Given the description of an element on the screen output the (x, y) to click on. 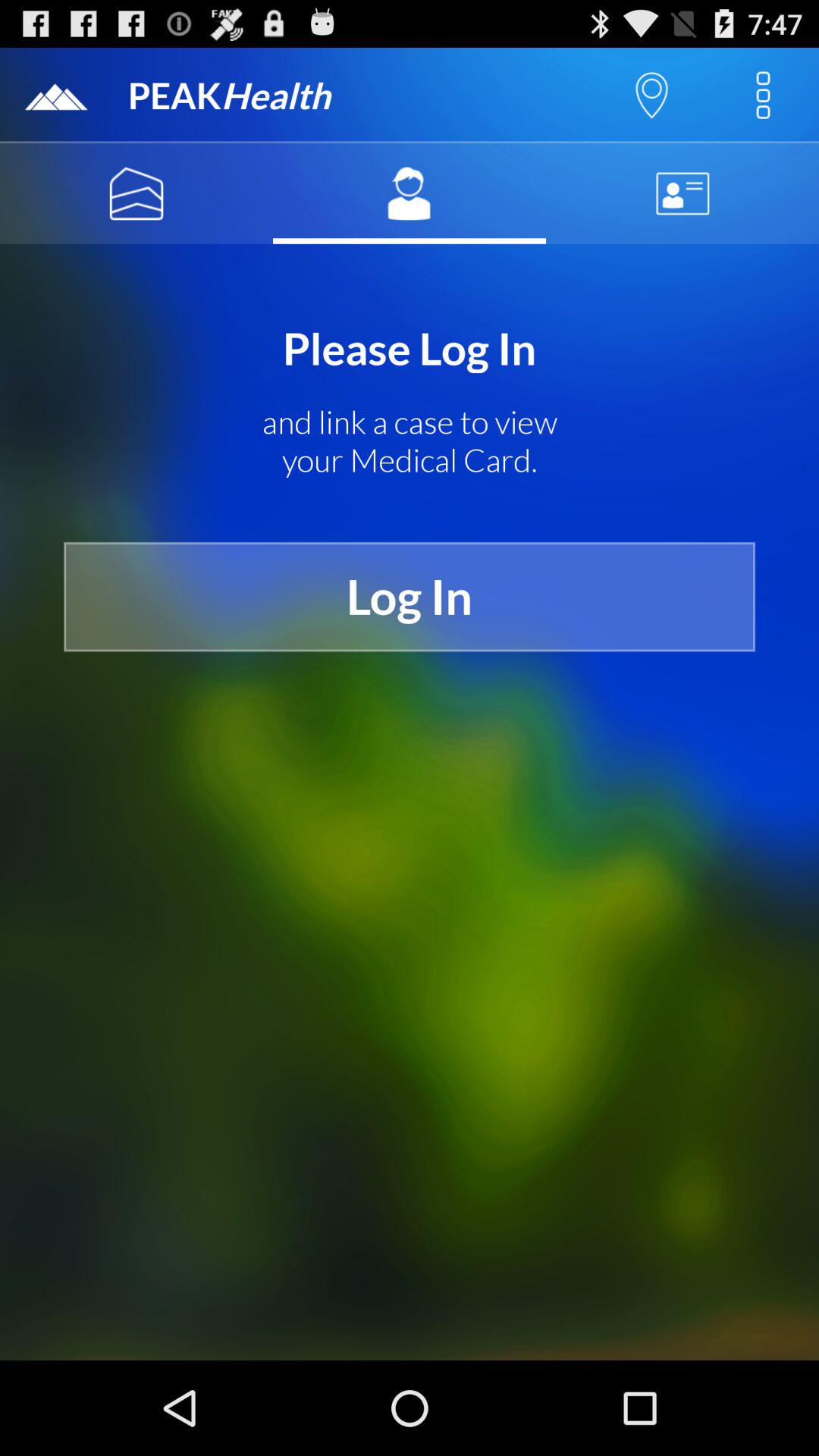
launch icon above the log in item (409, 441)
